Given the description of an element on the screen output the (x, y) to click on. 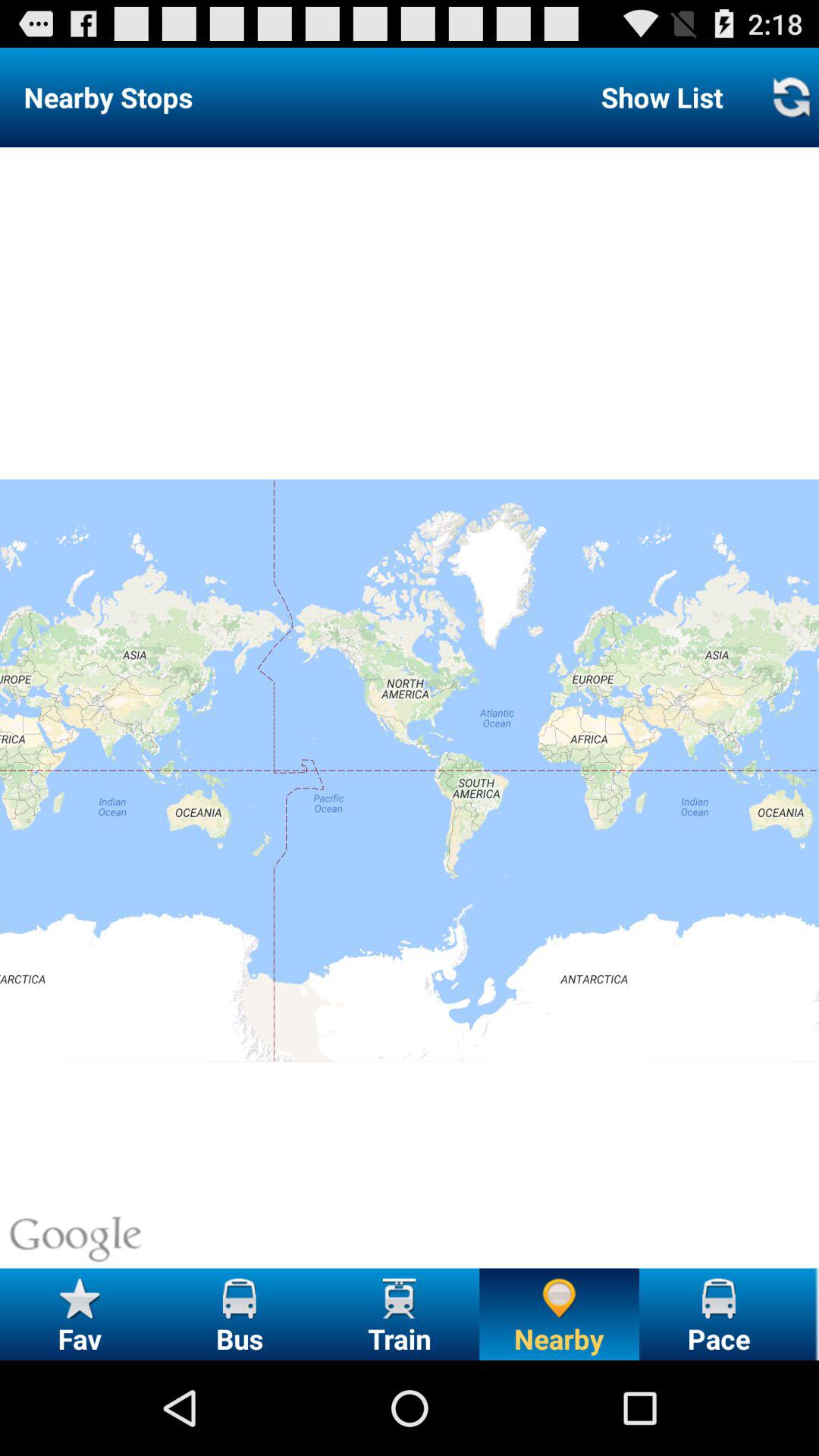
tap show list item (662, 97)
